Given the description of an element on the screen output the (x, y) to click on. 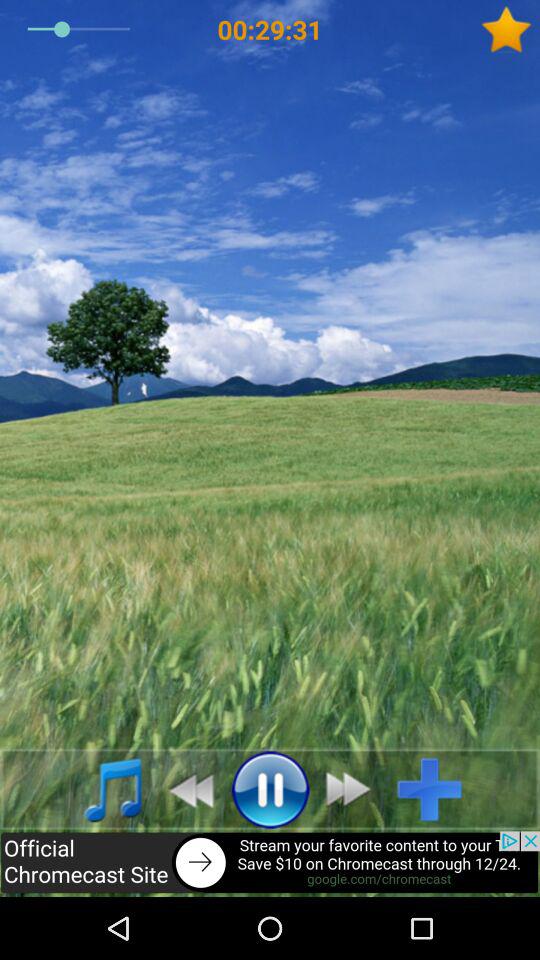
go to favorite (510, 29)
